Given the description of an element on the screen output the (x, y) to click on. 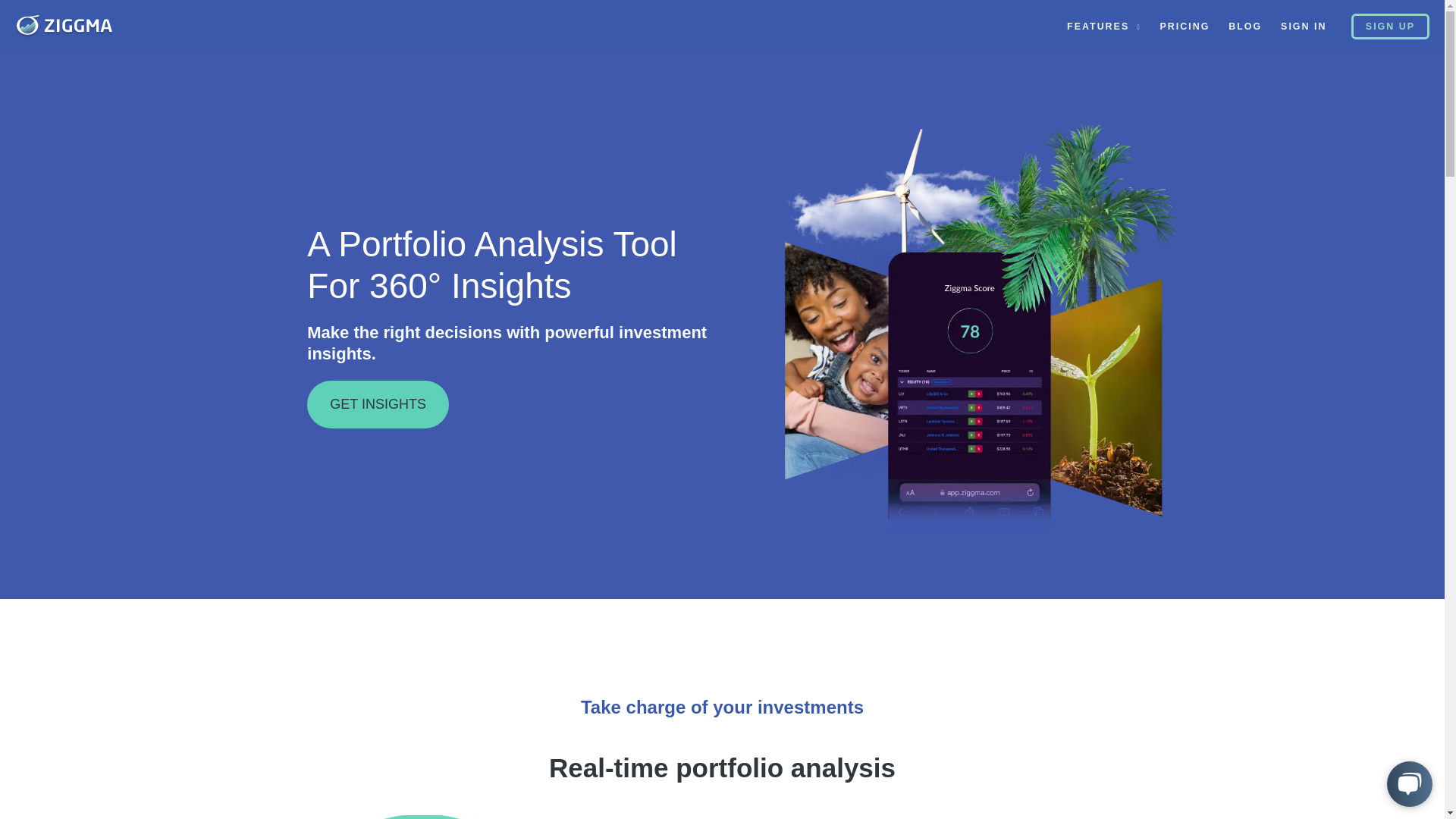
SIGN UP (1390, 26)
PRICING (1185, 26)
BLOG (1245, 26)
SIGN IN (1303, 26)
FEATURES (1104, 26)
Chat Widget (1406, 782)
GET INSIGHTS (377, 404)
